Given the description of an element on the screen output the (x, y) to click on. 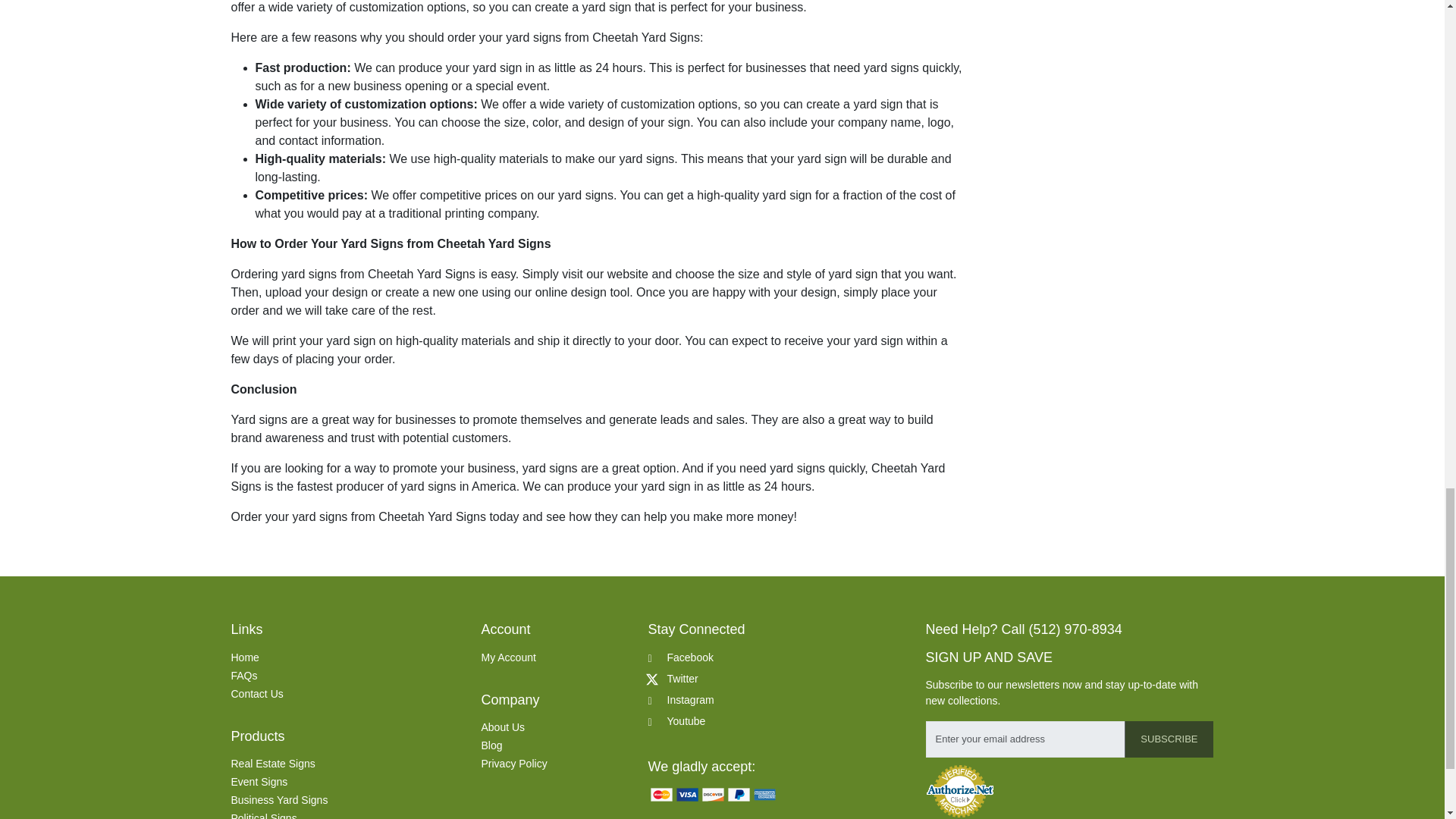
FAQs (243, 675)
Subscribe (1168, 739)
Real Estate Signs (272, 763)
Contact Us (256, 693)
Home (244, 657)
